Given the description of an element on the screen output the (x, y) to click on. 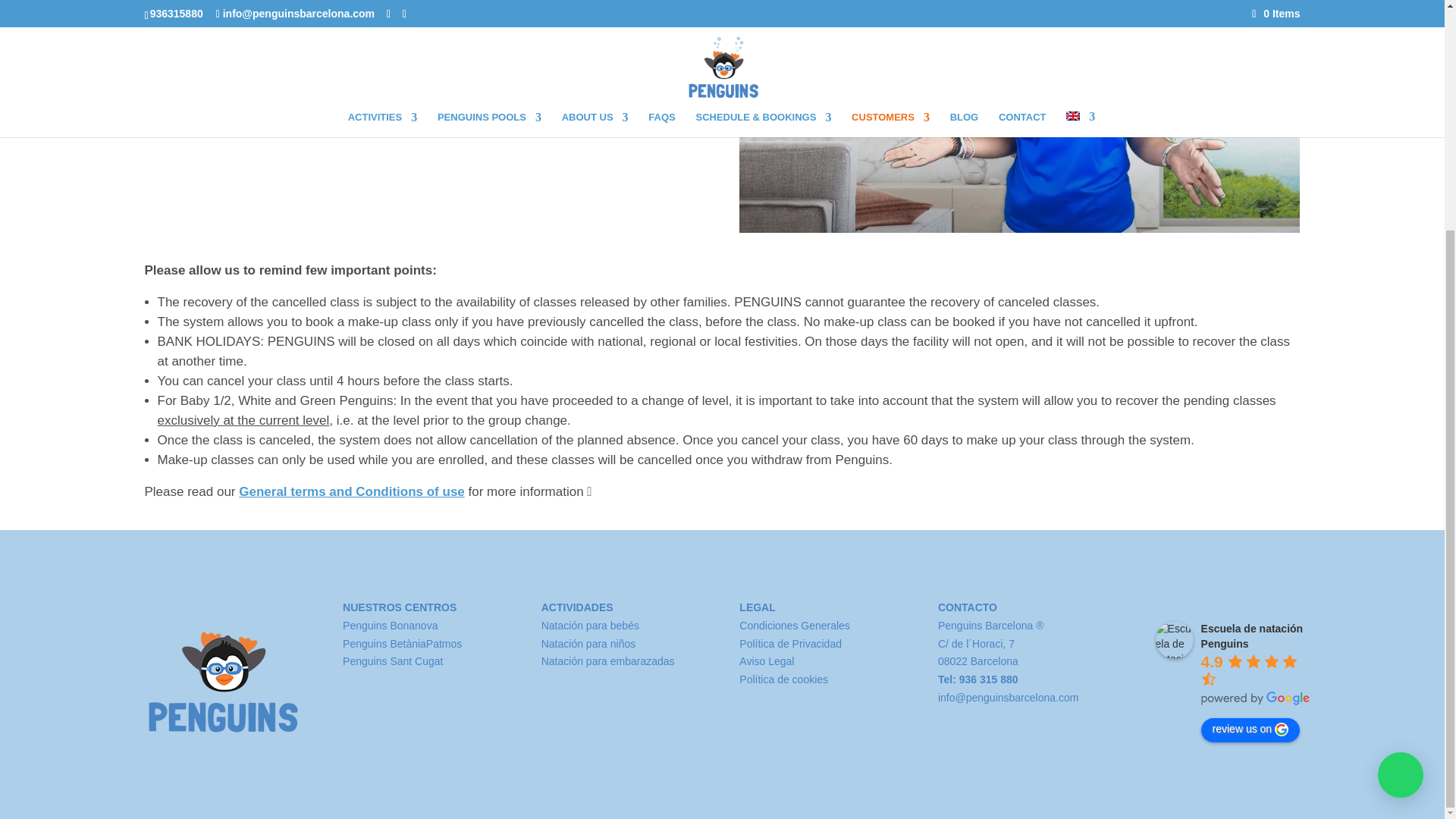
powered by Google (1255, 698)
